Given the description of an element on the screen output the (x, y) to click on. 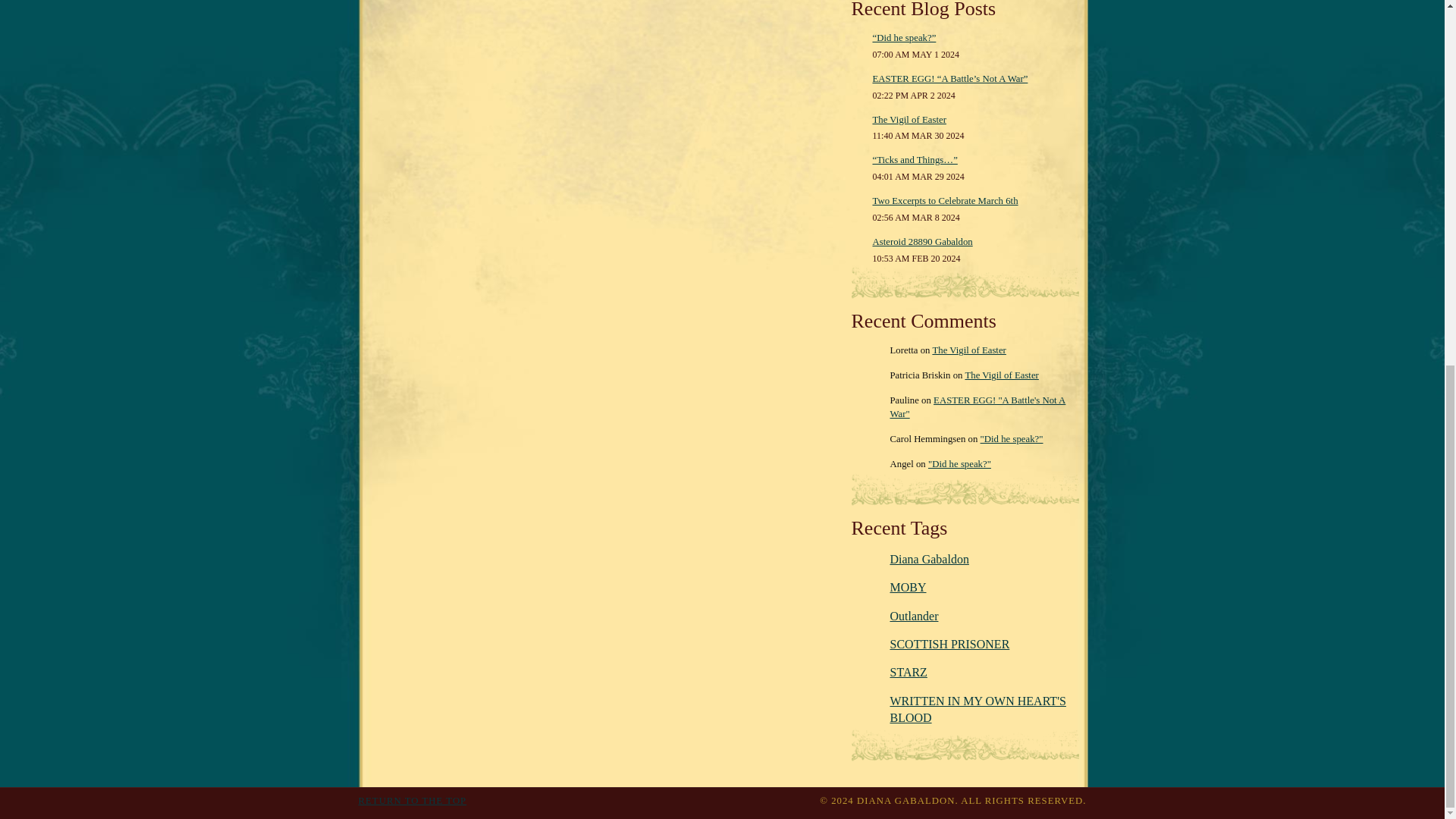
15 topics (914, 615)
on EASTER EGG!  (977, 406)
on The Vigil of Easter (1000, 375)
8 topics (907, 586)
79 topics (929, 558)
on  (1011, 439)
on The Vigil of Easter (968, 349)
on  (959, 463)
9 topics (977, 708)
4 topics (949, 644)
